Given the description of an element on the screen output the (x, y) to click on. 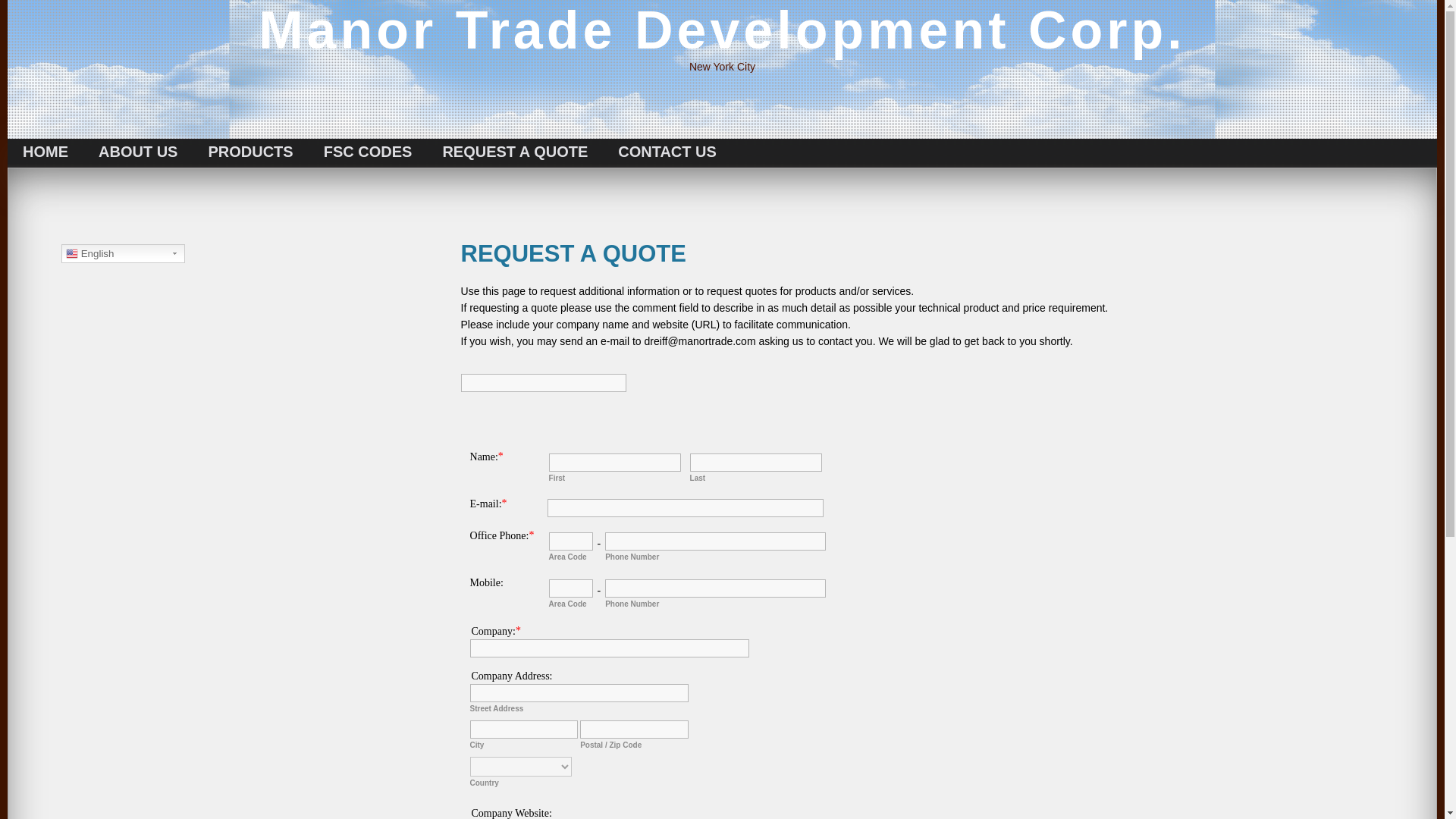
HOME (44, 151)
English (122, 253)
FSC CODES (368, 151)
CONTACT US (667, 151)
PRODUCTS (249, 151)
Manor Trade Development Corp. (722, 30)
ABOUT US (137, 151)
REQUEST A QUOTE (514, 151)
